Given the description of an element on the screen output the (x, y) to click on. 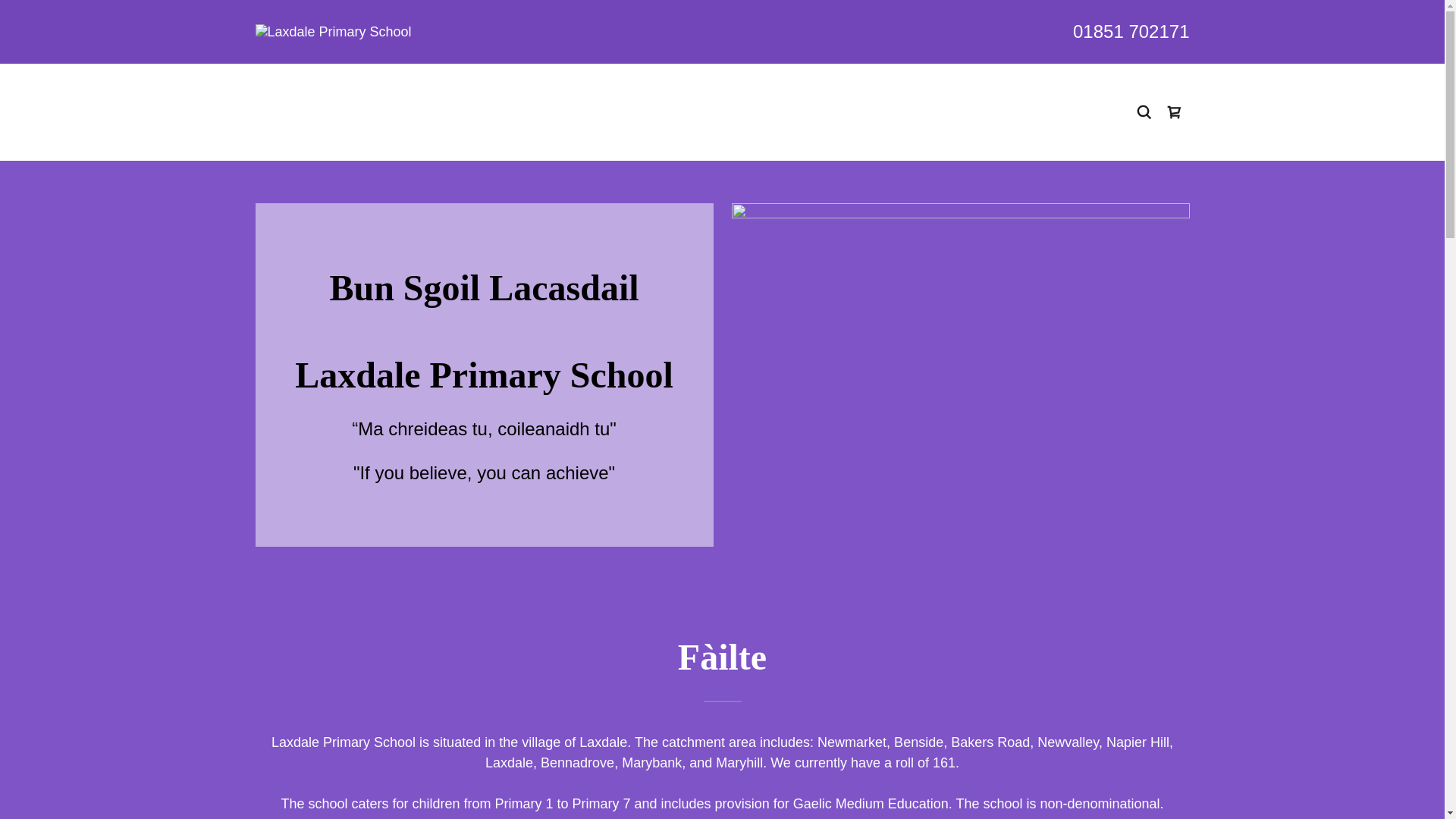
01851 702171 (1131, 31)
Laxdale Primary School (332, 30)
